Given the description of an element on the screen output the (x, y) to click on. 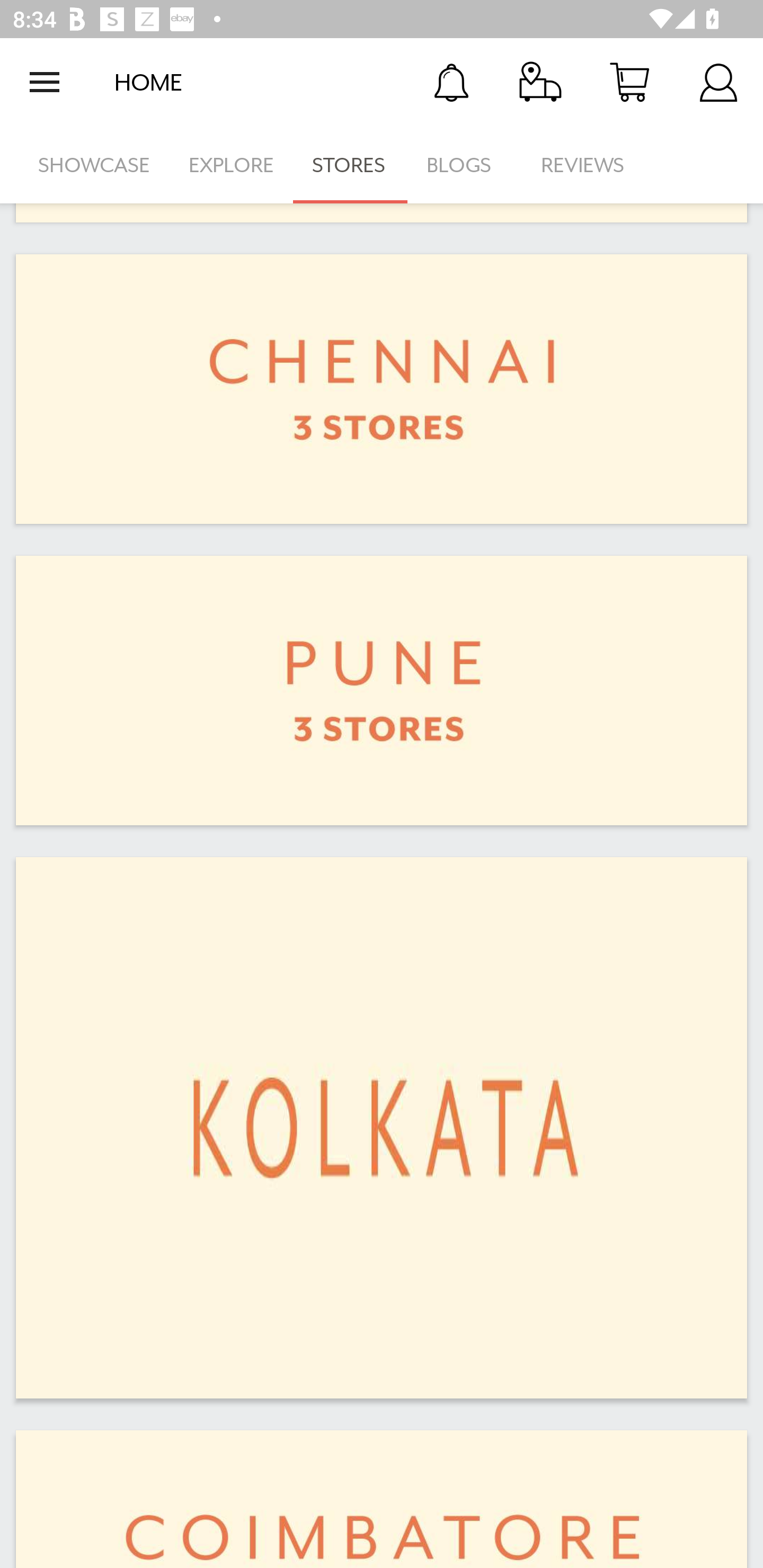
Open navigation drawer (44, 82)
Notification (450, 81)
Track Order (540, 81)
Cart (629, 81)
Account Details (718, 81)
SHOWCASE (94, 165)
EXPLORE (230, 165)
STORES (349, 165)
BLOGS (464, 165)
REVIEWS (582, 165)
